Given the description of an element on the screen output the (x, y) to click on. 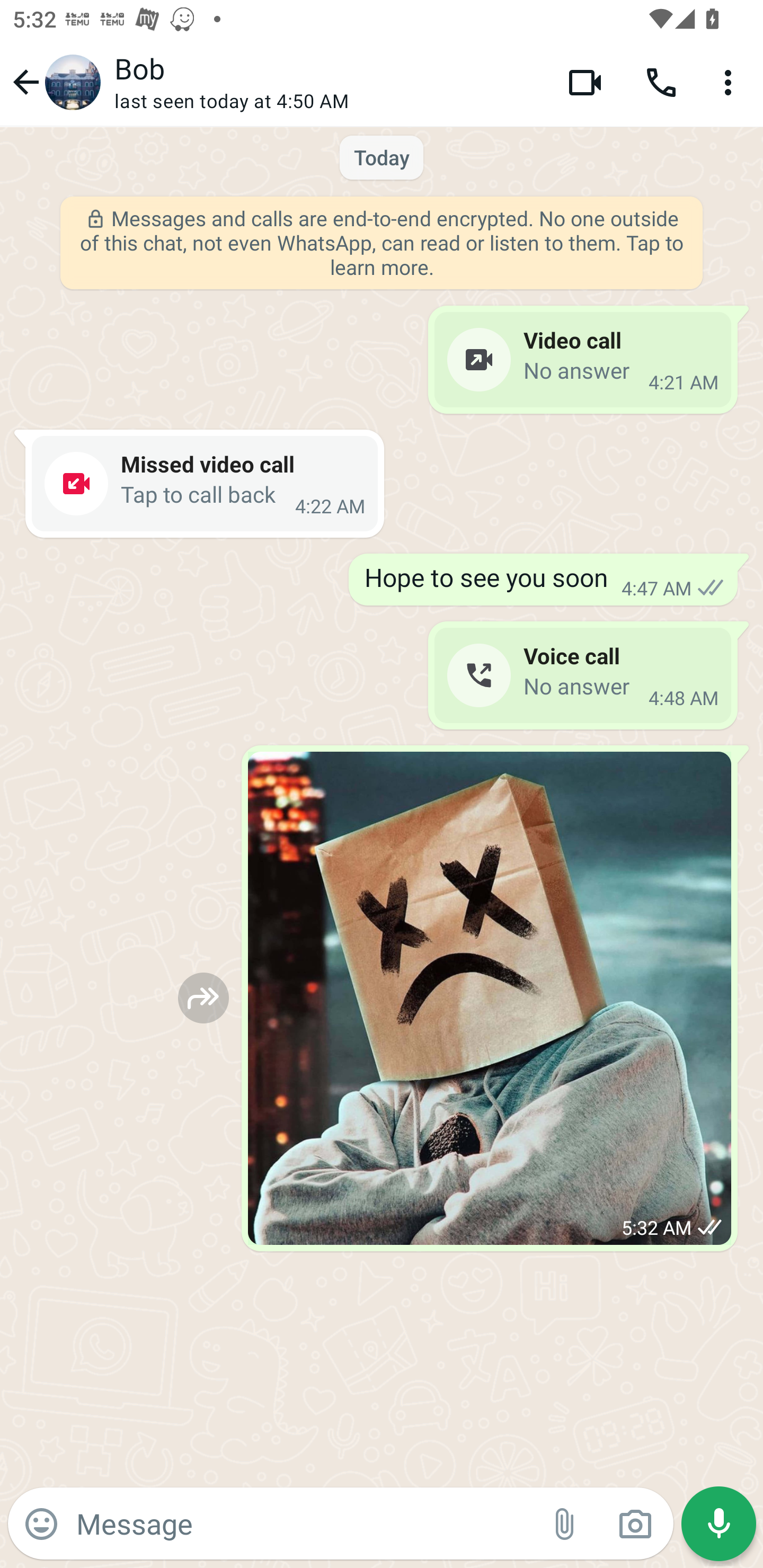
Bob last seen today at 4:50 AM (327, 82)
Navigate up (54, 82)
Video call (585, 81)
Voice call (661, 81)
More options (731, 81)
View photo (488, 997)
Forward to… (202, 997)
Emoji (41, 1523)
Attach (565, 1523)
Camera (634, 1523)
Message (303, 1523)
